Given the description of an element on the screen output the (x, y) to click on. 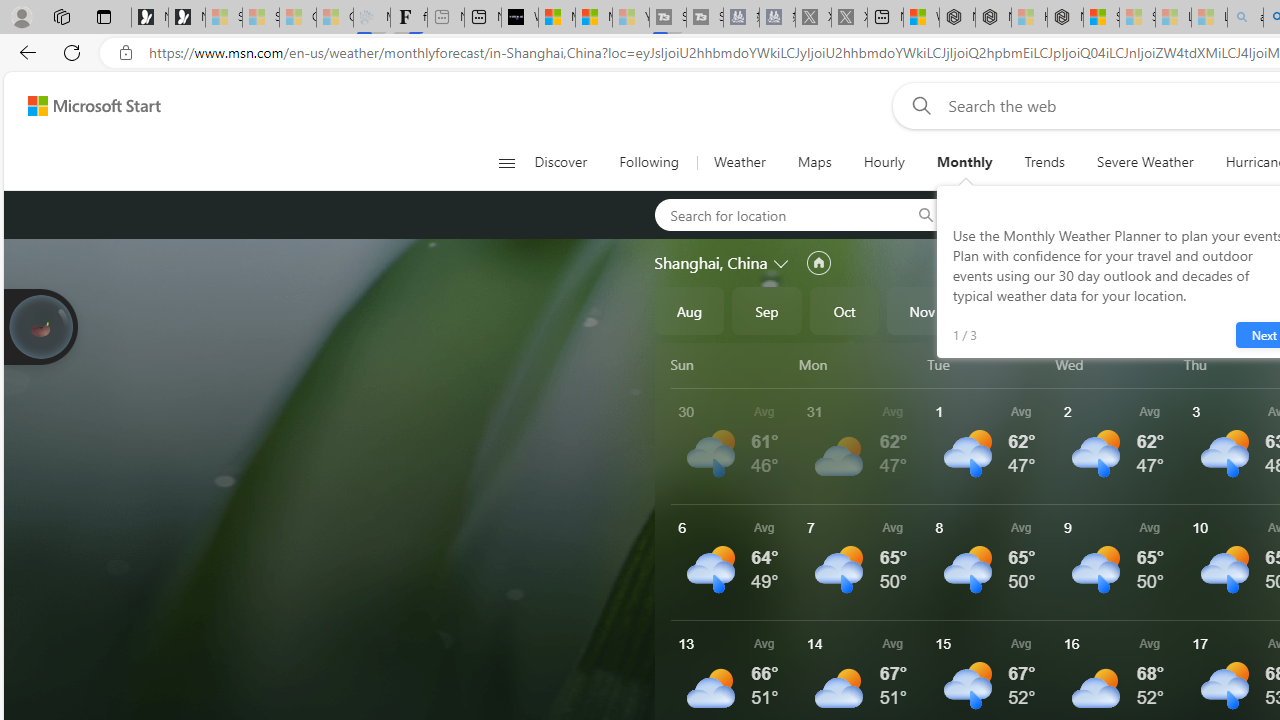
Monthly (964, 162)
Oct (844, 310)
amazon - Search - Sleeping (1245, 17)
Sep (767, 310)
Sun (731, 363)
Join us in planting real trees to help our planet! (40, 325)
Microsoft Start (94, 105)
Newsletter Sign Up (186, 17)
Discover (568, 162)
